Given the description of an element on the screen output the (x, y) to click on. 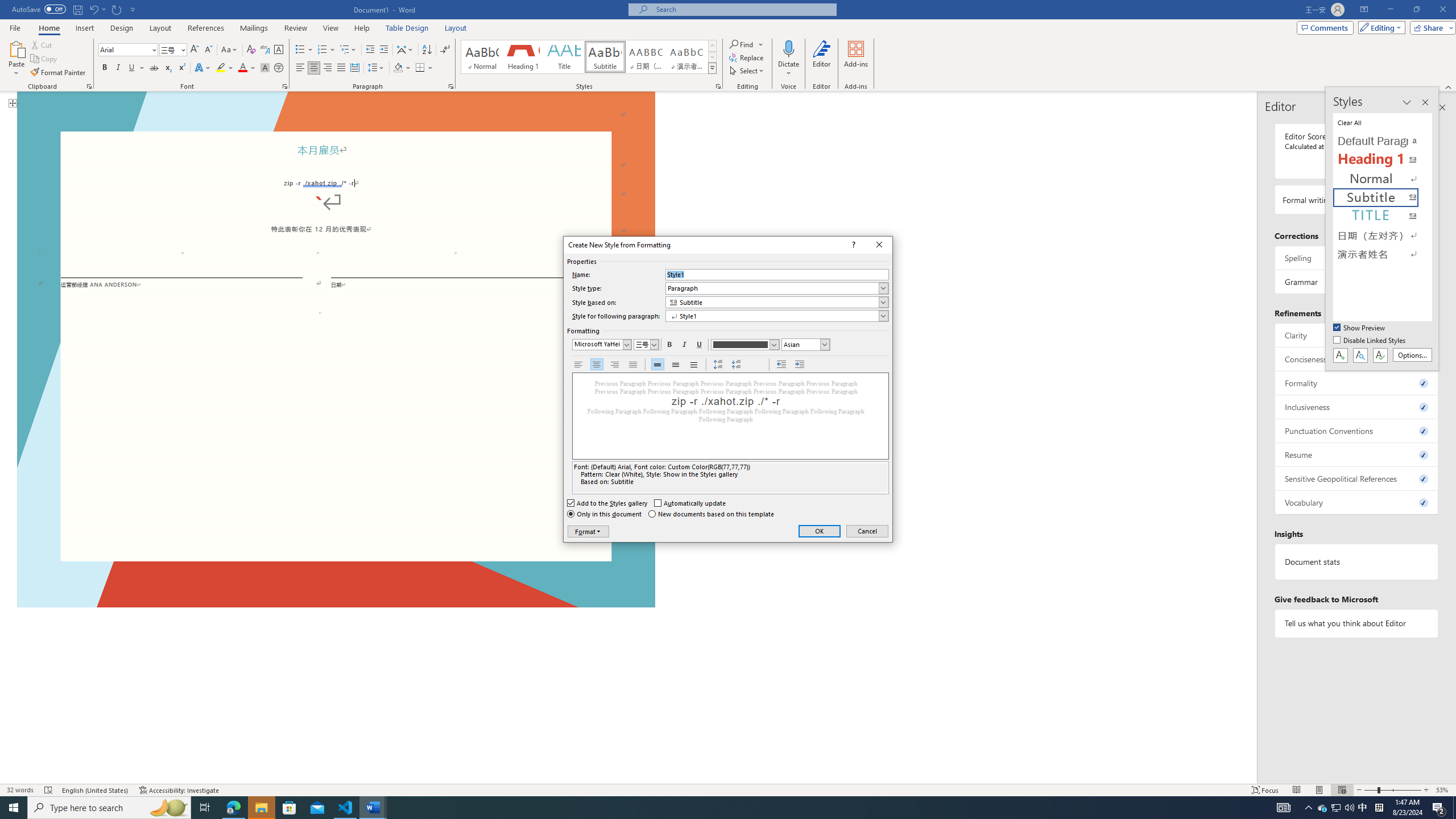
File Explorer - 1 running window (261, 807)
Type here to search (1322, 807)
OK (108, 807)
Visual Studio Code - 1 running window (819, 531)
1.5 Spacing (345, 807)
Word - 2 running windows (675, 364)
